Given the description of an element on the screen output the (x, y) to click on. 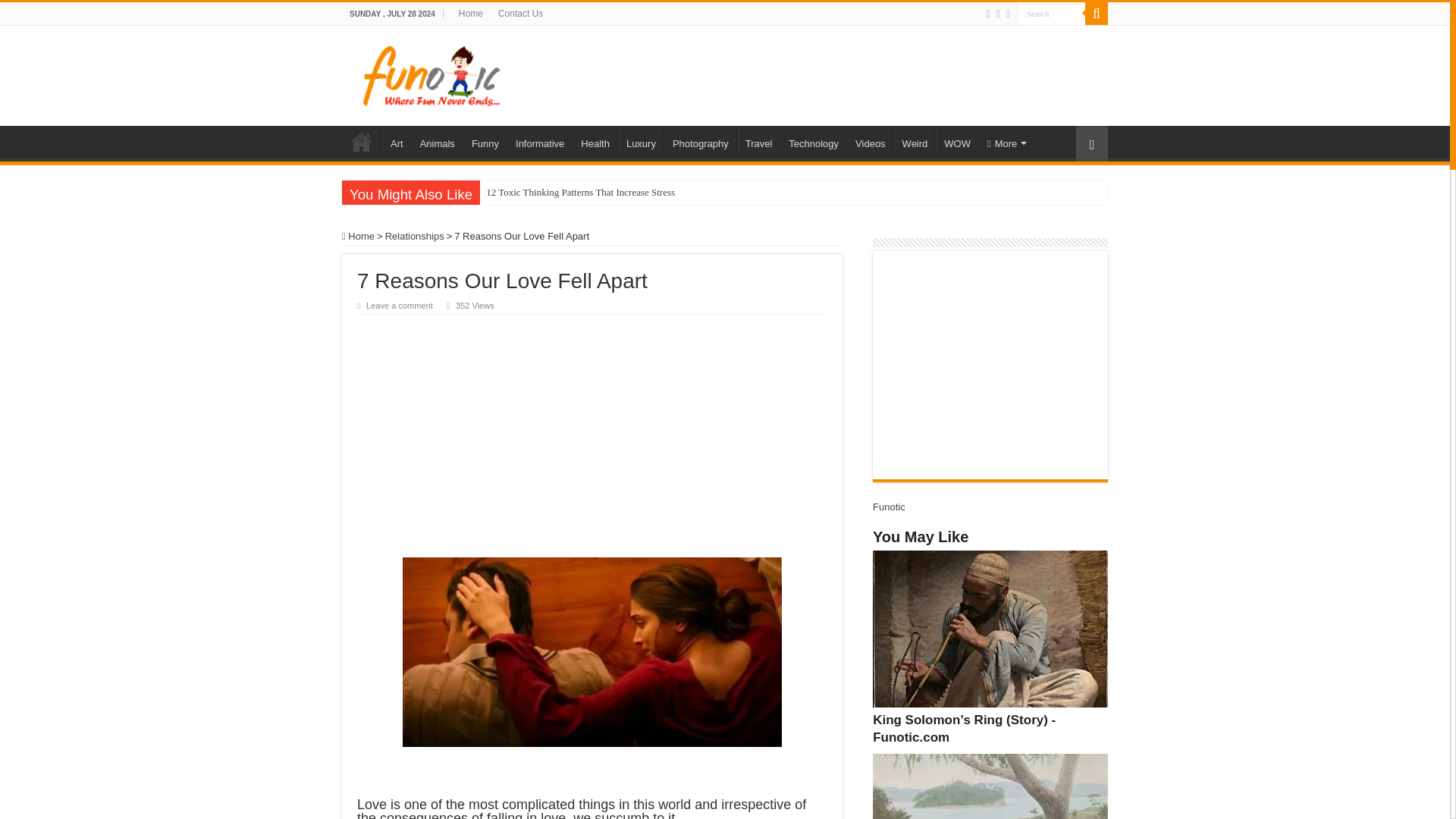
Advertisement (820, 74)
Search (1050, 13)
Funotic.com (430, 72)
Search (1050, 13)
Search (1050, 13)
